Given the description of an element on the screen output the (x, y) to click on. 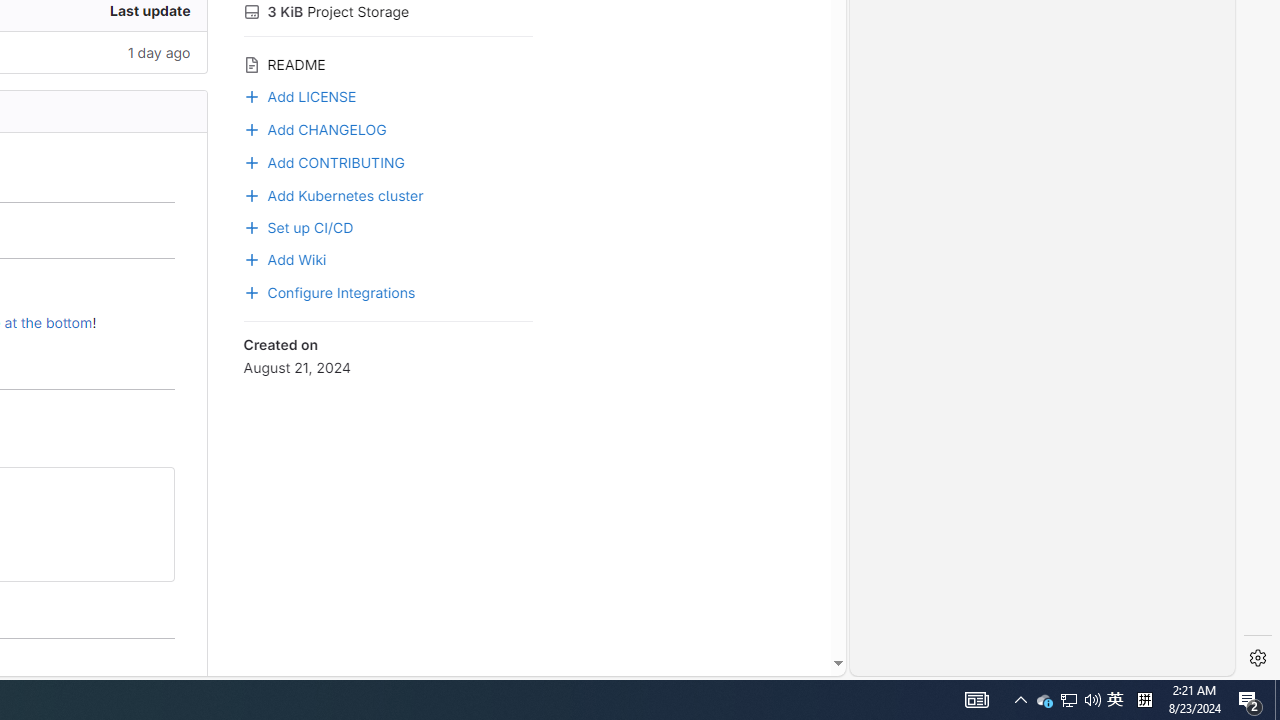
Add CHANGELOG (314, 127)
Add Wiki (284, 258)
Add CONTRIBUTING (387, 160)
Add LICENSE (300, 94)
Set up CI/CD (387, 225)
README (387, 62)
Add CONTRIBUTING (323, 160)
Configure Integrations (387, 291)
